Given the description of an element on the screen output the (x, y) to click on. 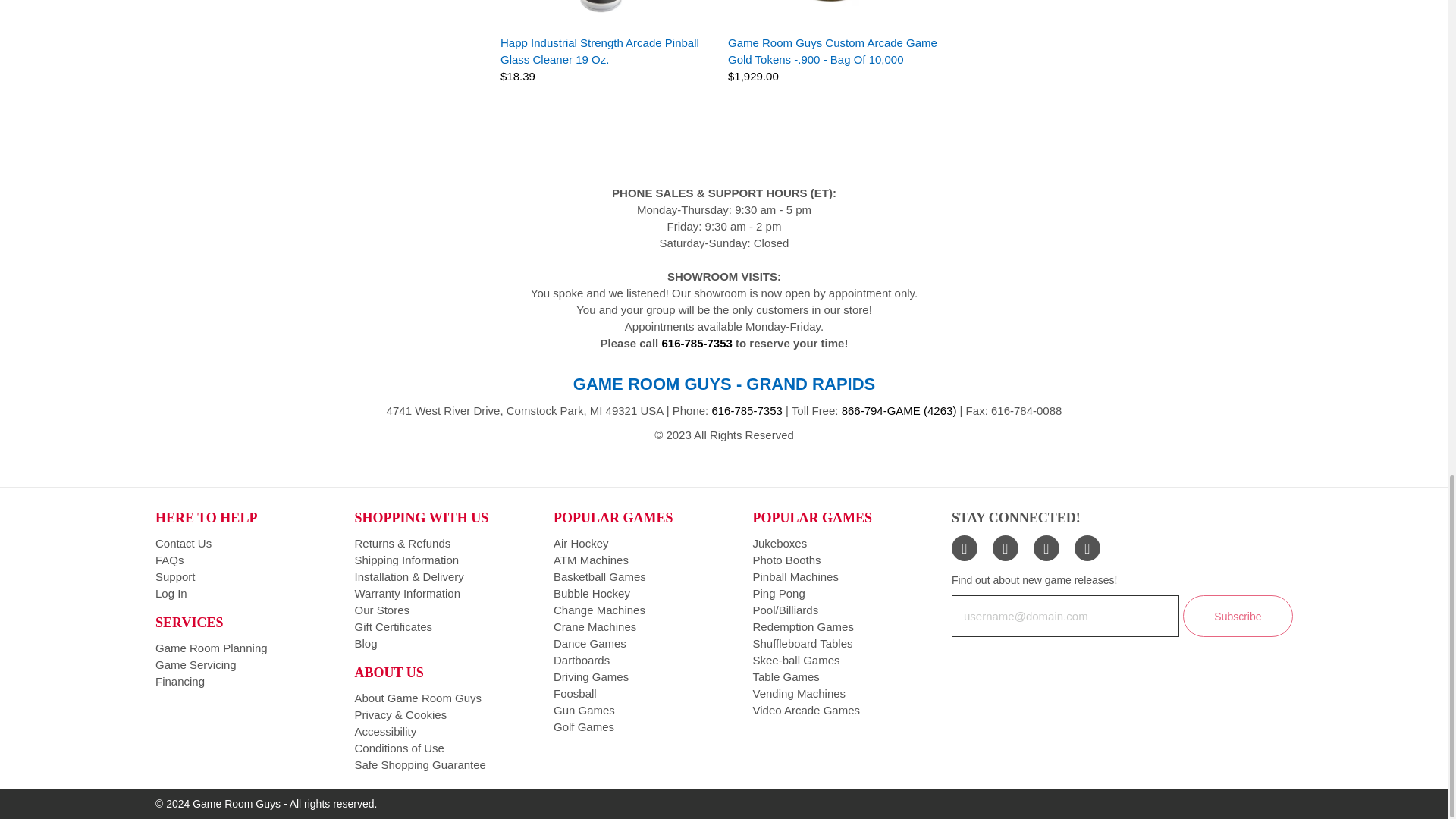
facebook (964, 548)
twitter (1004, 548)
pinterest (1087, 548)
instagram (1046, 548)
